Given the description of an element on the screen output the (x, y) to click on. 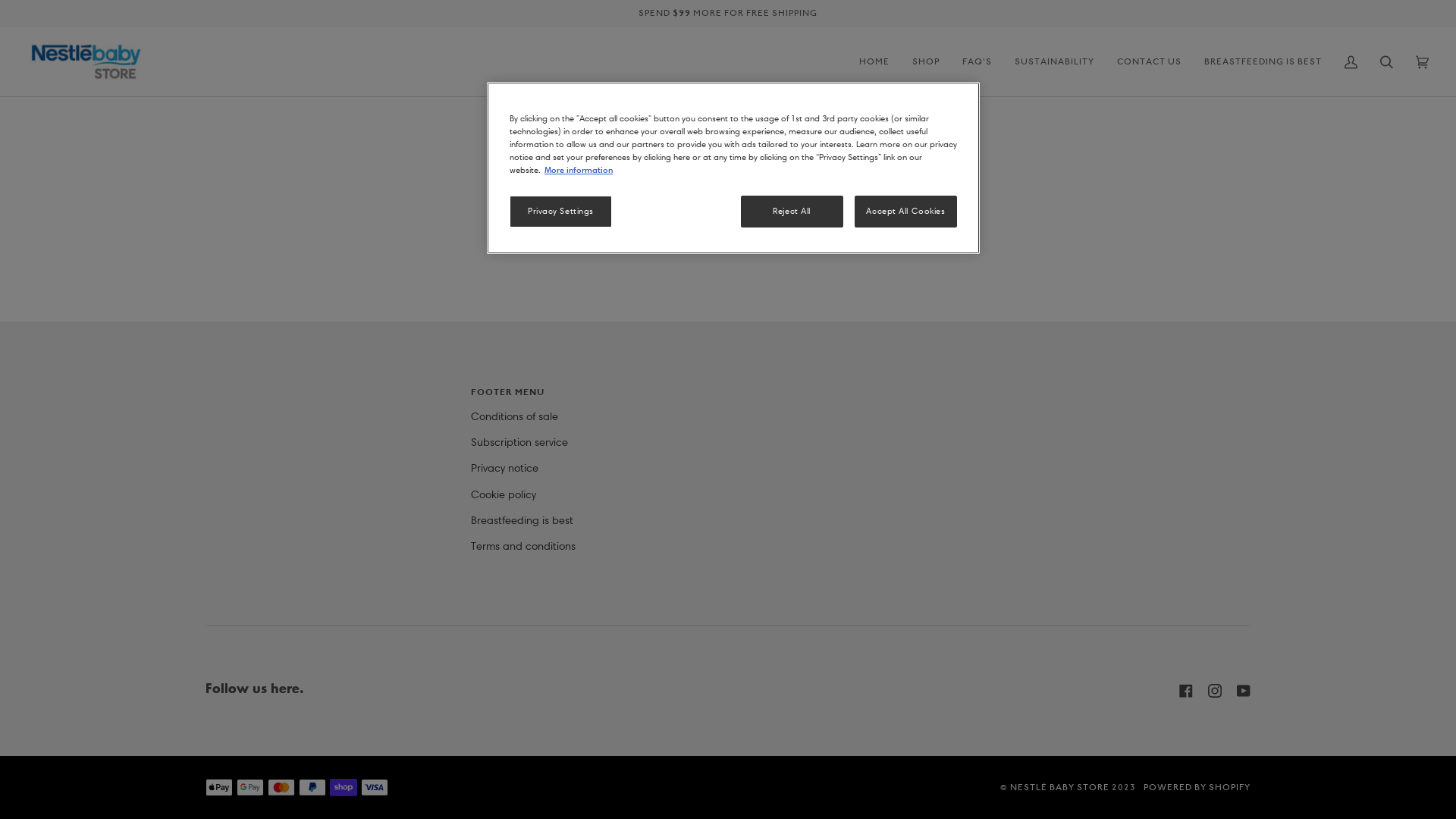
Reject All Element type: text (791, 211)
Cookie policy Element type: text (502, 494)
SUSTAINABILITY Element type: text (1054, 61)
Privacy notice Element type: text (503, 467)
Instagram Element type: text (1214, 690)
YouTube Element type: text (1243, 690)
SHOP Element type: text (925, 61)
Accept All Cookies Element type: text (905, 211)
Conditions of sale Element type: text (513, 416)
Privacy Settings Element type: text (560, 211)
POWERED BY SHOPIFY Element type: text (1196, 786)
More information Element type: text (578, 169)
CONTACT US Element type: text (1148, 61)
Facebook Element type: text (1185, 690)
BREASTFEEDING IS BEST Element type: text (1262, 61)
CART
(0) Element type: text (1422, 61)
FAQ'S Element type: text (976, 61)
HOME Element type: text (873, 61)
Terms and conditions Element type: text (522, 545)
Subscription service Element type: text (518, 441)
here Element type: text (784, 197)
Breastfeeding is best Element type: text (521, 520)
SEARCH Element type: text (1386, 61)
MY ACCOUNT Element type: text (1350, 61)
